Given the description of an element on the screen output the (x, y) to click on. 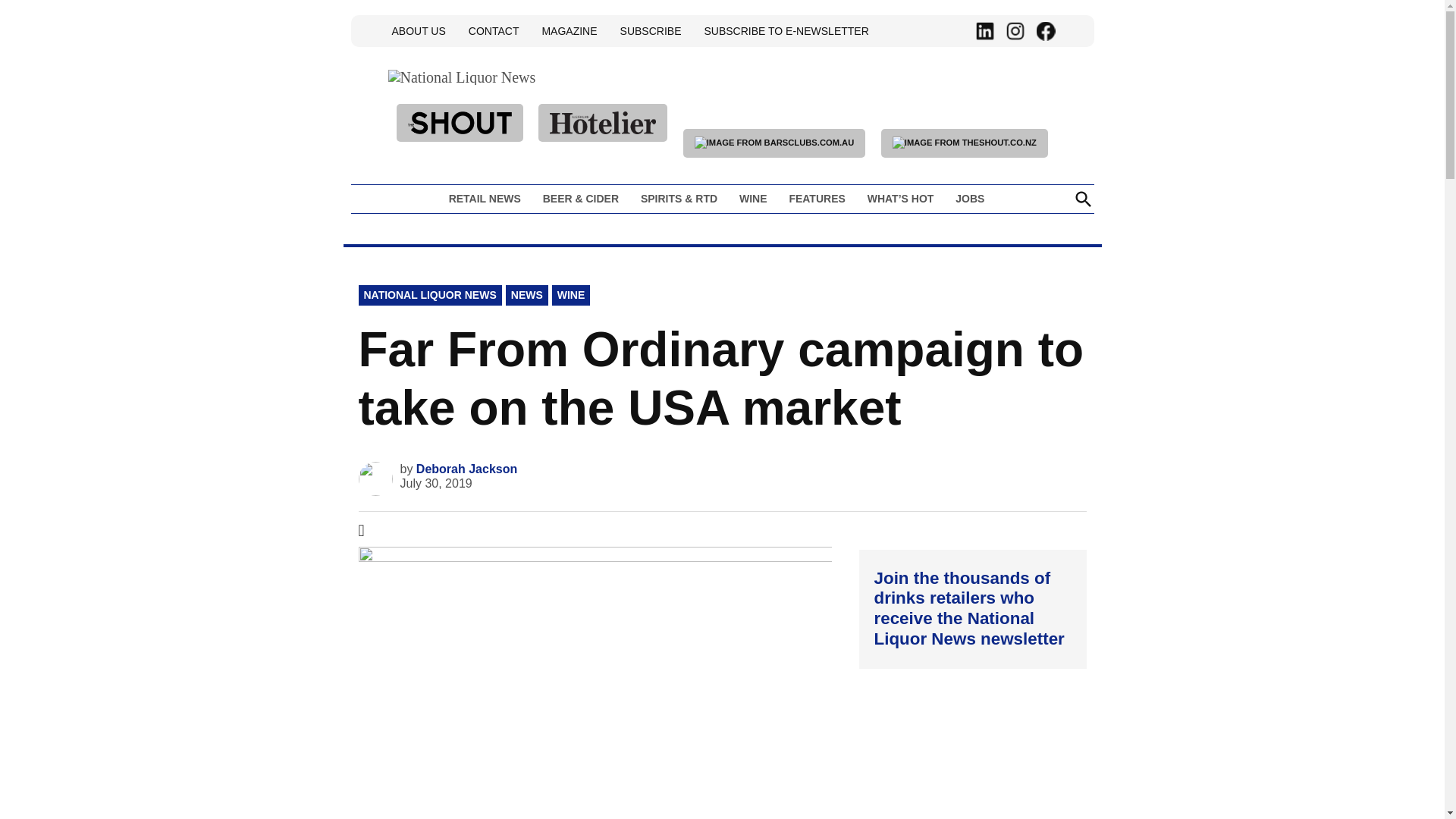
ABOUT US (418, 30)
RETAIL NEWS (488, 198)
CONTACT (493, 30)
Linkedin (984, 31)
Facebook (1045, 31)
Instagram (1015, 31)
National Liquor News (578, 108)
MAGAZINE (568, 30)
SUBSCRIBE TO E-NEWSLETTER (786, 30)
SUBSCRIBE (650, 30)
